Given the description of an element on the screen output the (x, y) to click on. 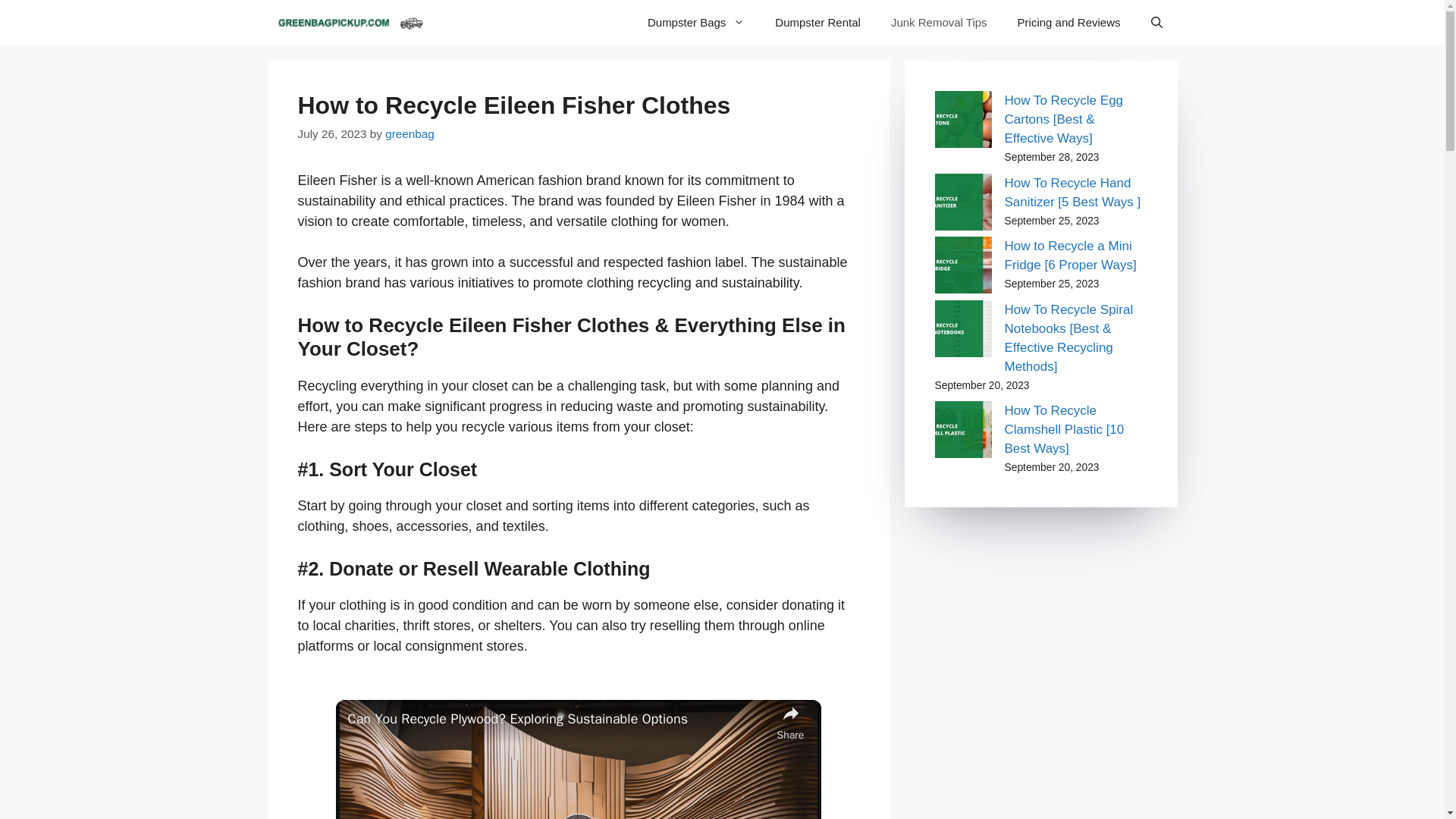
Can You Recycle Plywood? Exploring Sustainable Options (557, 719)
Junk Removal Tips (939, 22)
Play Video (576, 816)
greenbag (409, 133)
Pricing and Reviews (1069, 22)
View all posts by greenbag (409, 133)
Play Video (576, 816)
Dumpster Bags (695, 22)
Dumpster Rental (818, 22)
